Given the description of an element on the screen output the (x, y) to click on. 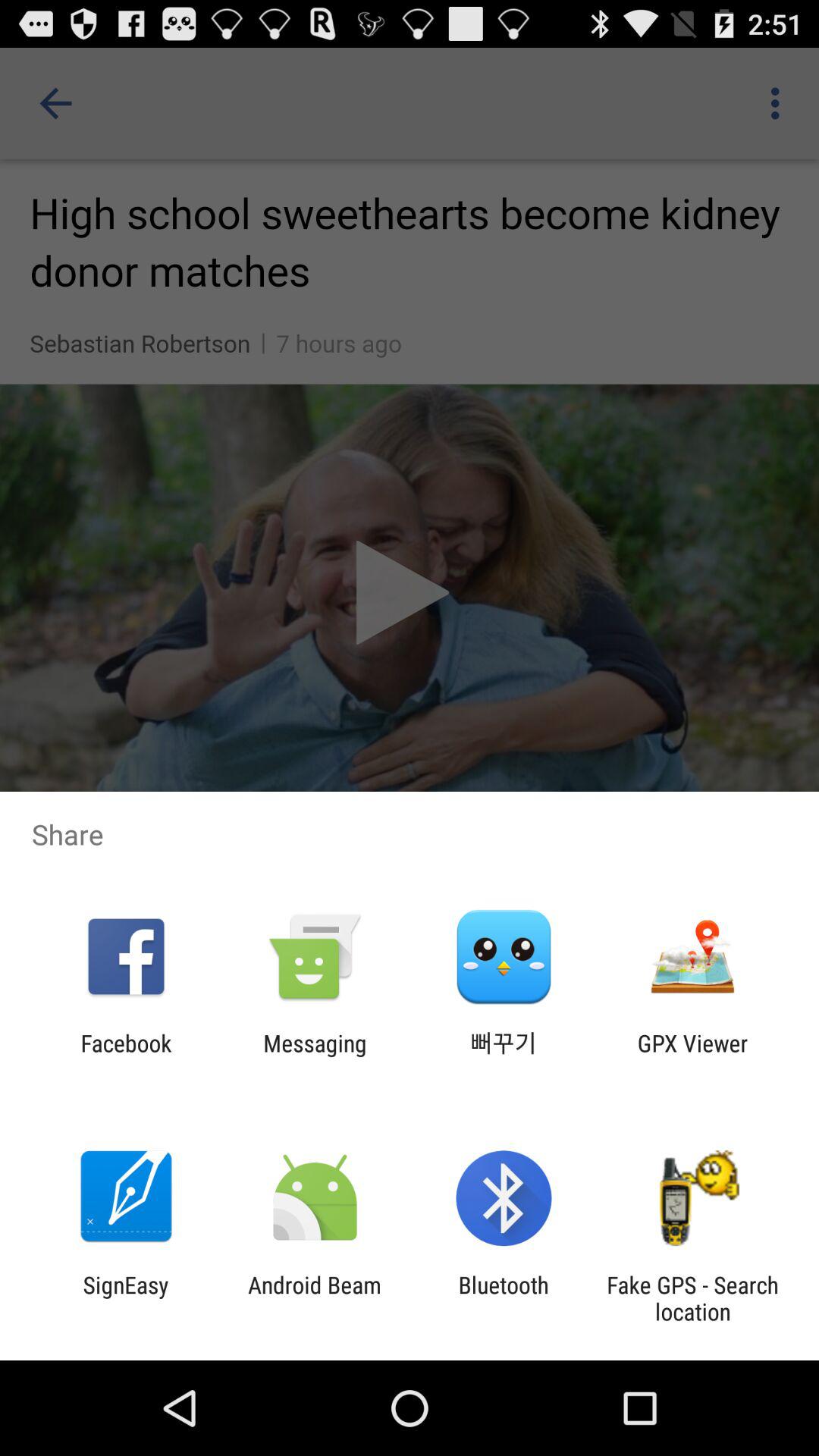
click the gpx viewer icon (692, 1056)
